Given the description of an element on the screen output the (x, y) to click on. 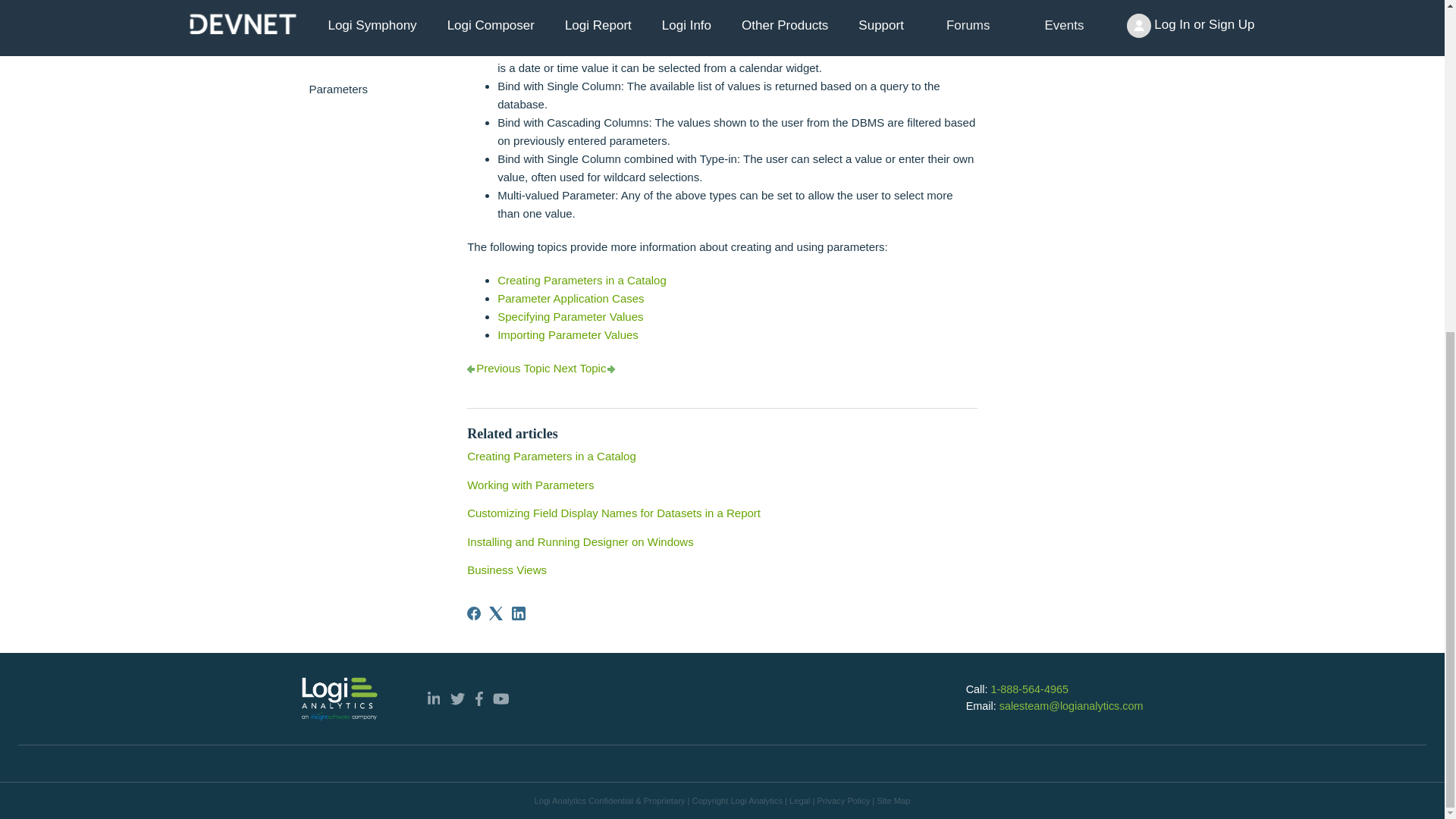
Find Logi Analytics on LinkedIn (433, 698)
Find Logi Analytics on YouTube (501, 698)
Parameters (373, 88)
Find Logi Analytics on Twitter (456, 698)
Find Logi Analytics on Facebook (479, 698)
